Given the description of an element on the screen output the (x, y) to click on. 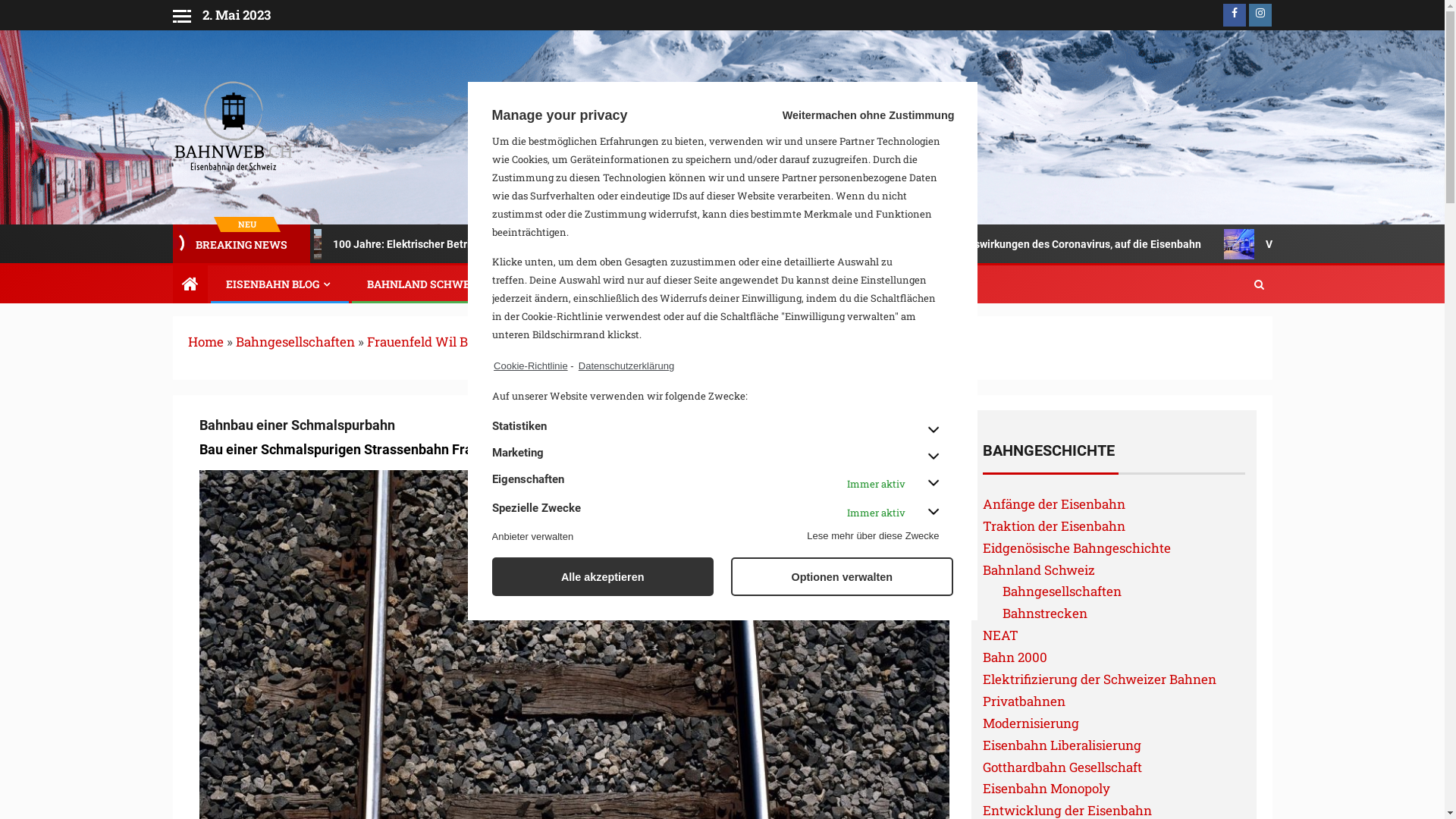
Bahnstrecken Element type: text (1044, 612)
Gotthardbahn Gesellschaft Element type: text (1062, 766)
Elektrifizierung der Schweizer Bahnen Element type: text (1099, 678)
BAHNLAND SCHWEIZ Element type: text (430, 283)
Bahngesellschaften Element type: text (294, 341)
Privatbahnen Element type: text (1023, 700)
Bahn 2000 Element type: text (1014, 656)
Alle akzeptieren Element type: text (601, 576)
Eisenbahn Liberalisierung Element type: text (1061, 744)
Home Element type: text (205, 341)
Cookie-Richtlinie Element type: text (529, 365)
Bahngesellschaften Element type: text (1061, 590)
Konstanzer Strassenbahn Element type: text (286, 244)
EISENBAHN BLOG Element type: text (279, 283)
Modernisierung Element type: text (1030, 722)
Suche Element type: text (1229, 330)
Bahnland Schweiz Element type: text (1038, 569)
Eisenbahn Monopoly Element type: text (1046, 788)
Frauenfeld Wil Bahn Element type: text (429, 341)
NEAT Element type: text (1000, 634)
Anbieter verwalten Element type: text (532, 536)
Weitermachen ohne Zustimmung Element type: text (830, 114)
100 Jahre: Elektrischer Betrieb Frauenfeld-Wil Element type: text (524, 244)
Search Element type: hover (1258, 283)
Optionen verwalten Element type: text (841, 576)
Traktion der Eisenbahn Element type: text (1053, 525)
